Given the description of an element on the screen output the (x, y) to click on. 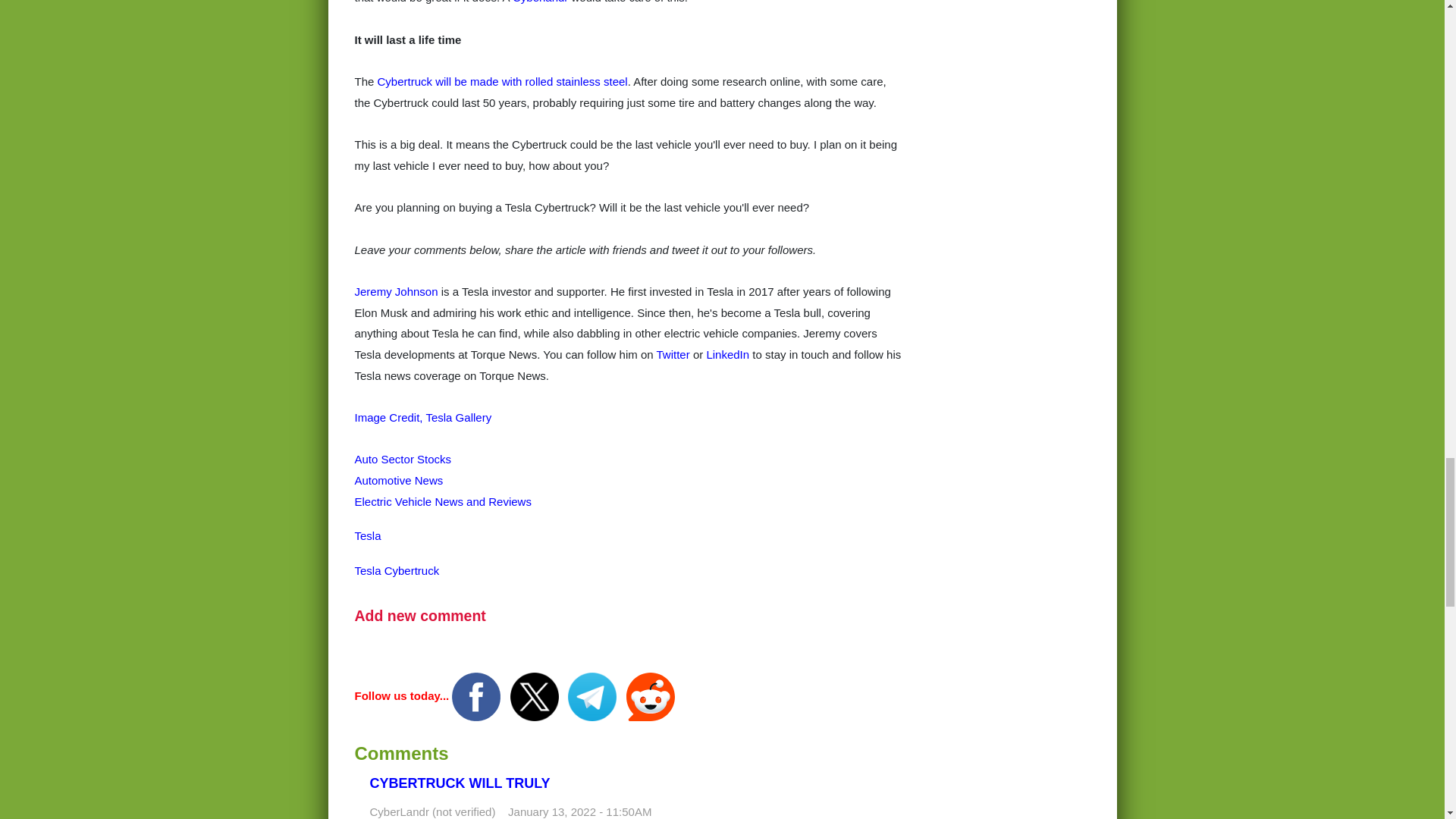
Twitter (673, 354)
Jeremy Johnson (396, 291)
Join us on Reddit! (650, 694)
Join us on Telegram! (593, 694)
Tesla Cybertruck (397, 570)
Cybertruck will be made with rolled stainless steel (502, 81)
Tesla (368, 535)
Image Credit, Tesla Gallery (423, 417)
Auto Sector Stocks (403, 459)
Electric Vehicle News and Reviews (443, 501)
Cyberlandr (539, 2)
Add new comment (420, 615)
LinkedIn (727, 354)
Automotive News (399, 480)
Share your thoughts and opinions. (420, 615)
